Given the description of an element on the screen output the (x, y) to click on. 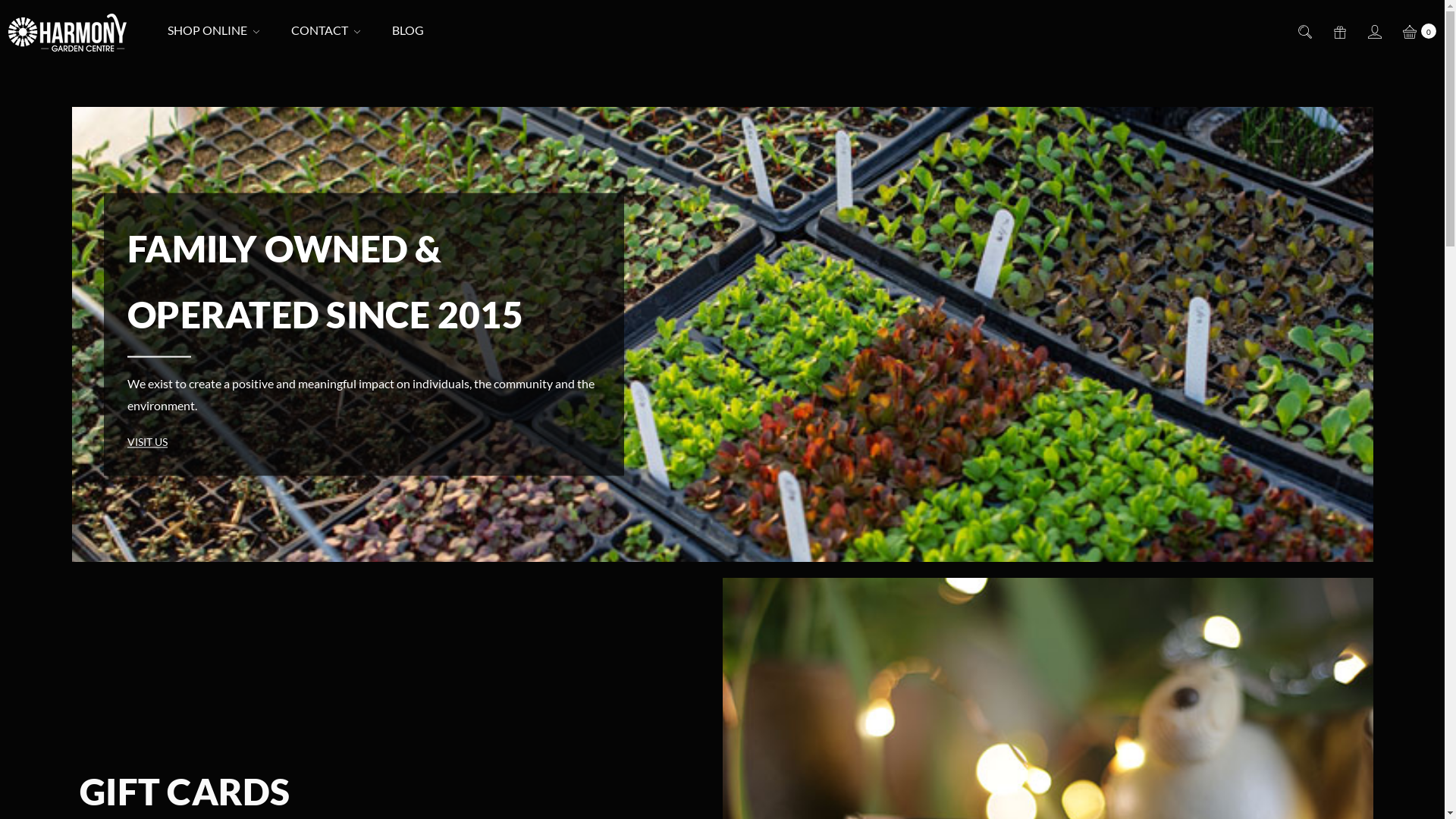
BLOG Element type: text (407, 30)
SHOP ONLINE Element type: text (213, 30)
CONTACT Element type: text (325, 30)
Harmony Garden Centre Element type: hover (67, 32)
0 Element type: text (1418, 30)
